Given the description of an element on the screen output the (x, y) to click on. 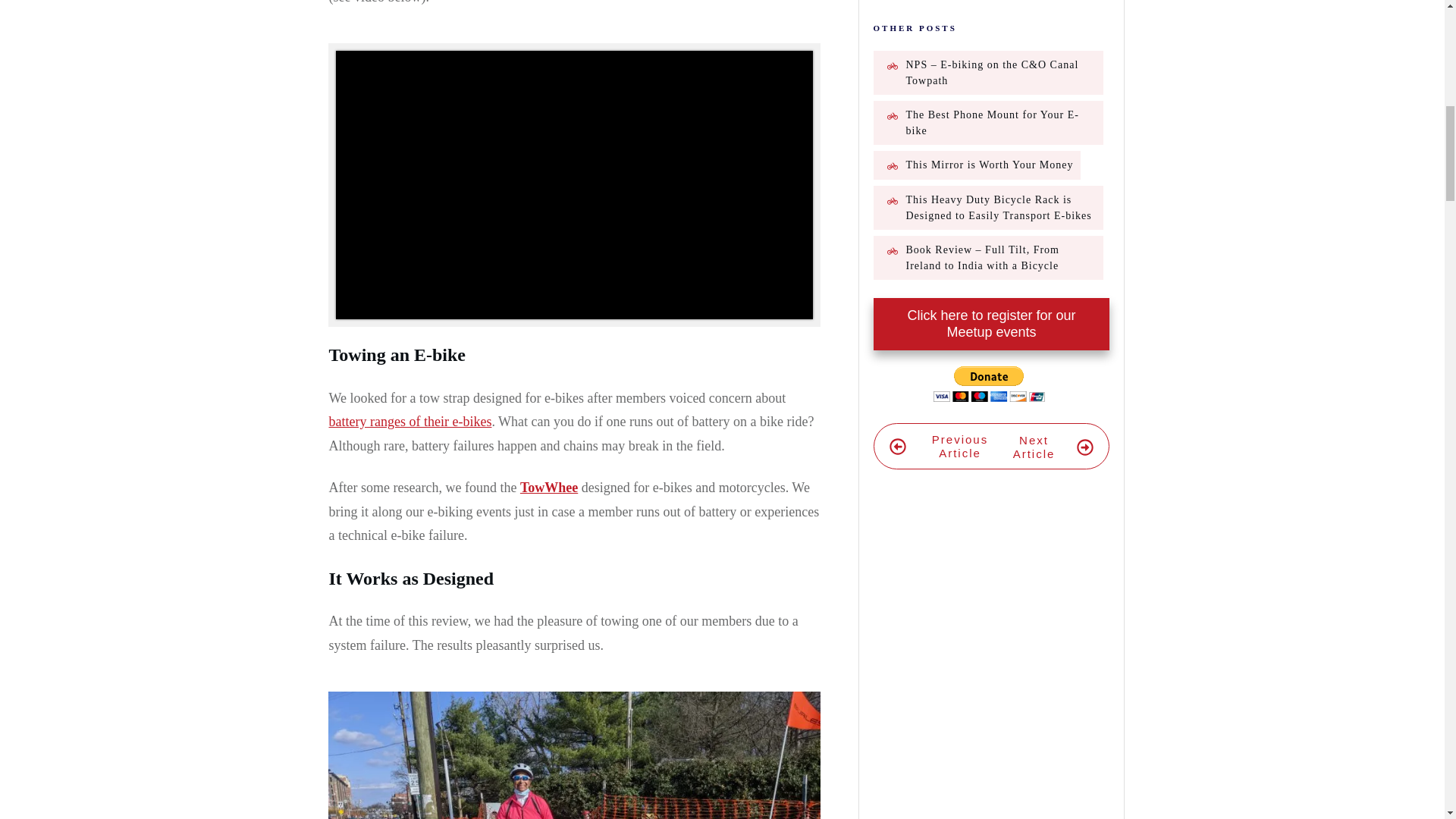
Responsive Video (573, 184)
TowWhee (548, 487)
battery ranges of their e-bikes (410, 421)
E-bike LoversTowing with the Towwhee (573, 755)
